Given the description of an element on the screen output the (x, y) to click on. 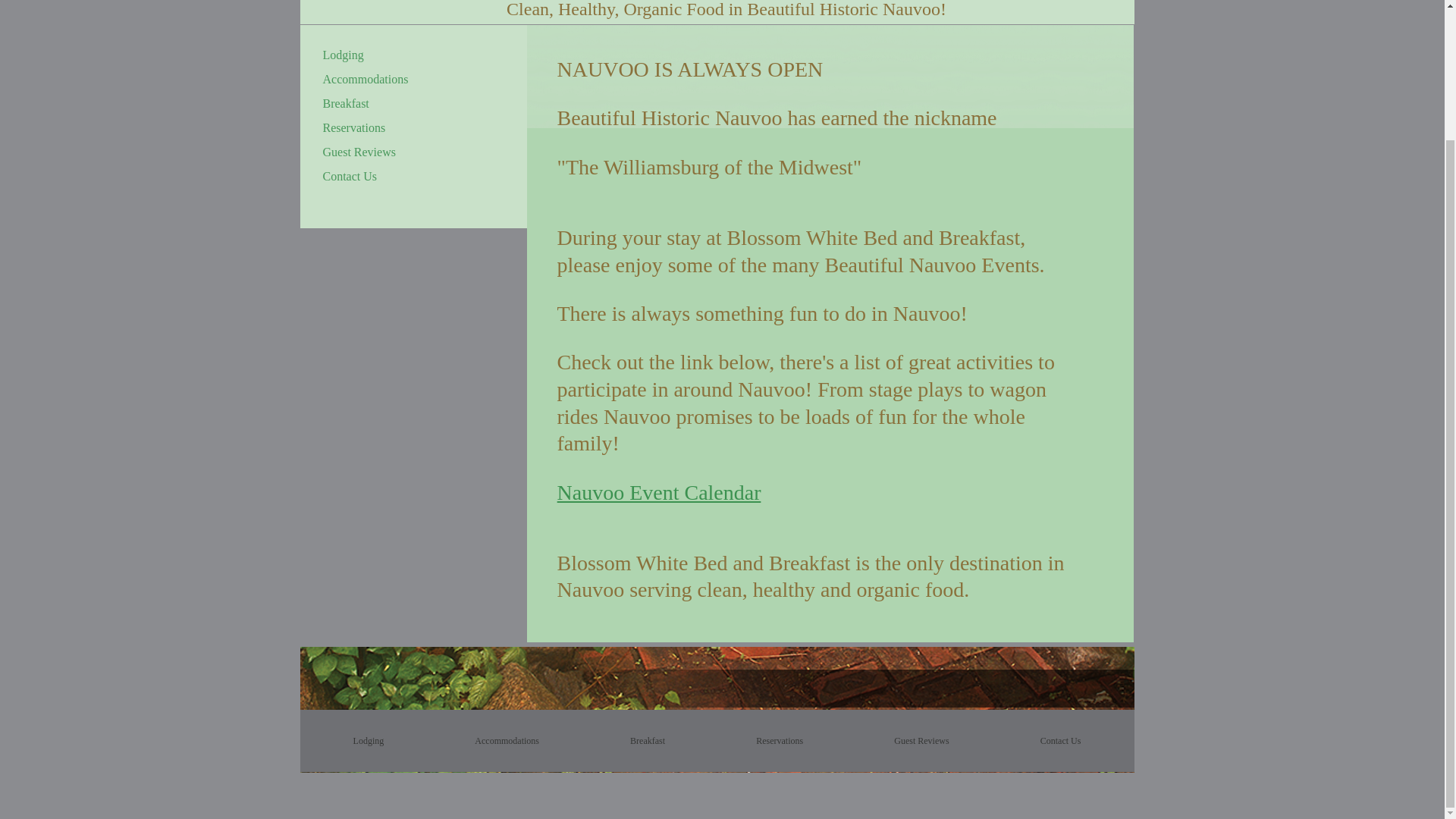
Guest Reviews (921, 740)
Reservations (779, 740)
Guest Reviews (359, 151)
Breakfast (346, 103)
Contact Us (350, 176)
Reservations (354, 127)
Nauvoo Event Calendar (658, 492)
Accommodations (507, 740)
Lodging (343, 55)
Contact Us (1060, 740)
